Given the description of an element on the screen output the (x, y) to click on. 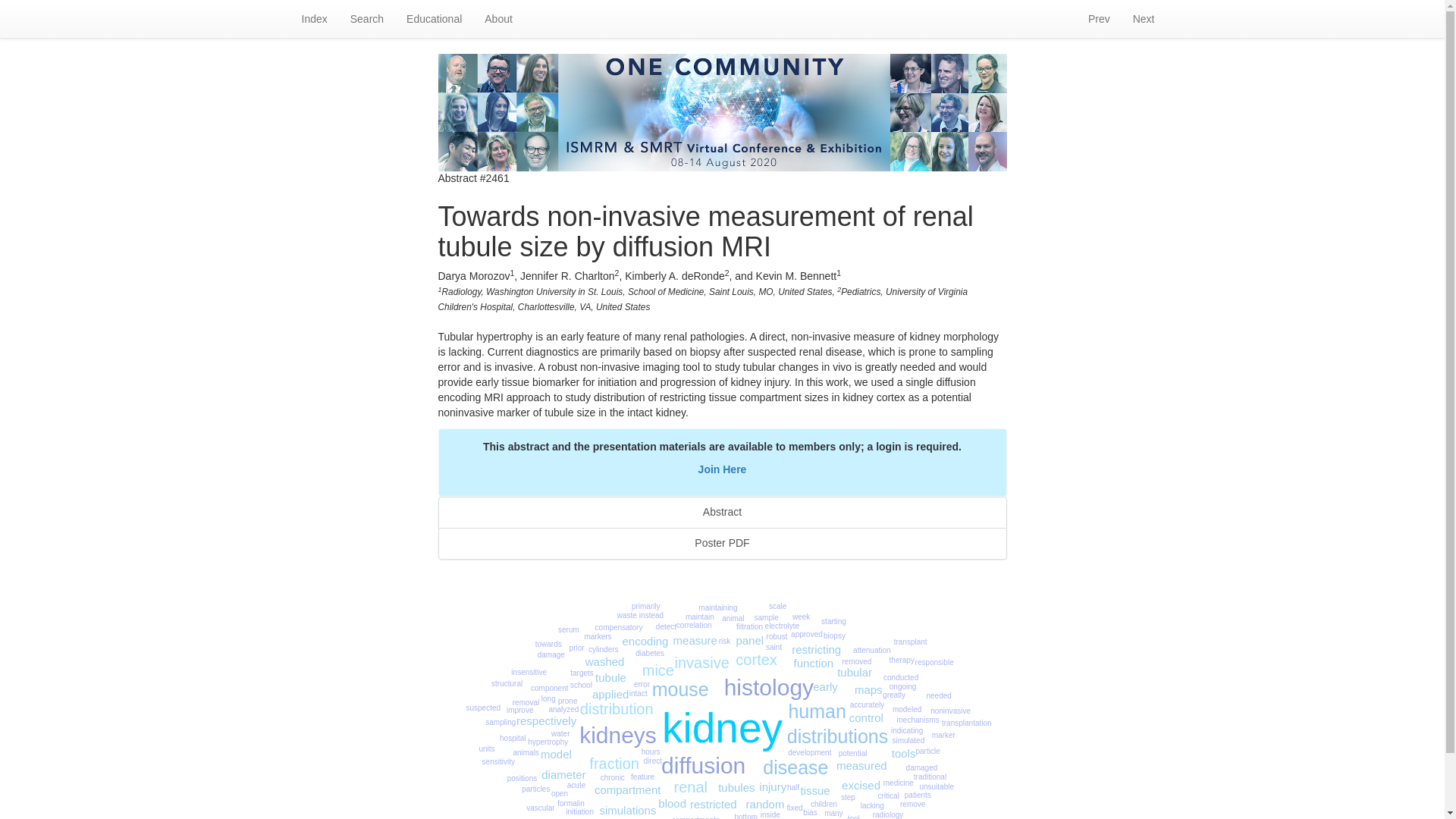
Index (313, 18)
Prev (1099, 18)
Poster PDF (722, 543)
Abstract (722, 512)
Educational (433, 18)
Next (1143, 18)
Search (366, 18)
About (498, 18)
Join Here (722, 469)
